Given the description of an element on the screen output the (x, y) to click on. 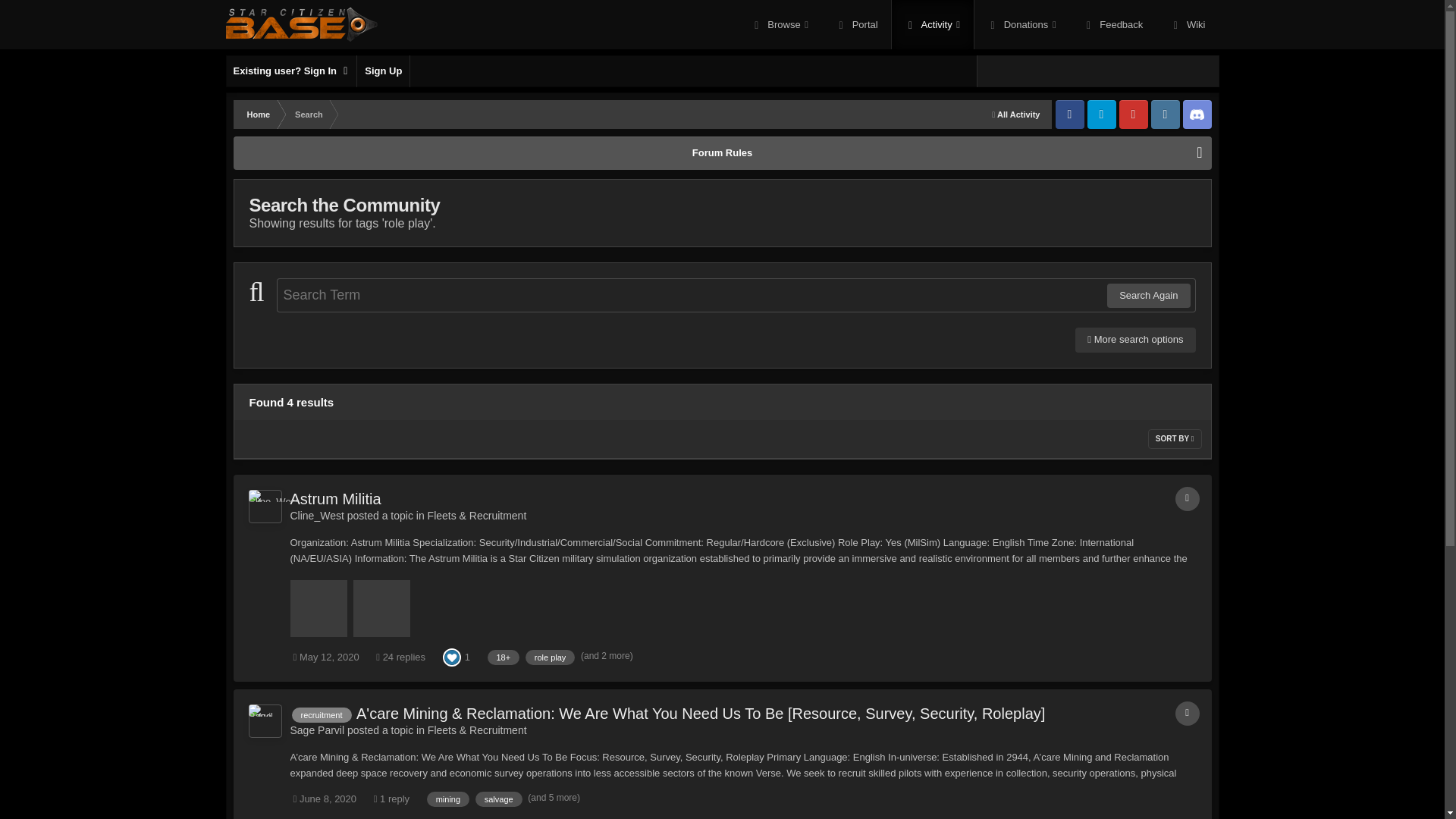
Wiki (1187, 24)
See who reacted "Like" (451, 655)
Topic (1186, 498)
Home (257, 113)
Find other content tagged with 'role play' (550, 657)
Go to Sage Parvil's profile (316, 729)
Find other content tagged with 'recruitment' (320, 714)
Sign Up (382, 70)
Activity (932, 24)
Topic (1186, 713)
